Given the description of an element on the screen output the (x, y) to click on. 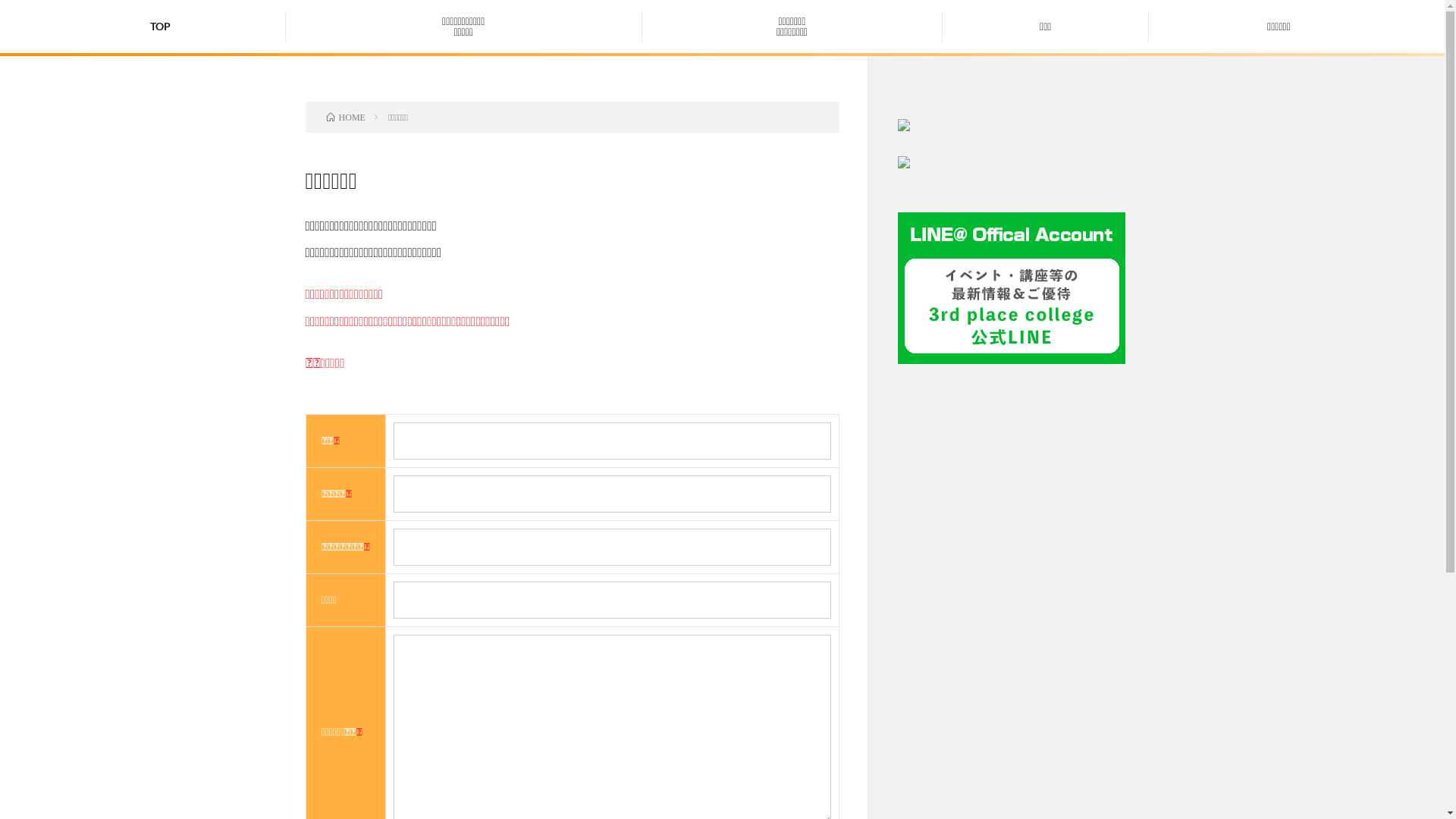
TOP Element type: text (160, 25)
HOME Element type: text (345, 116)
